Given the description of an element on the screen output the (x, y) to click on. 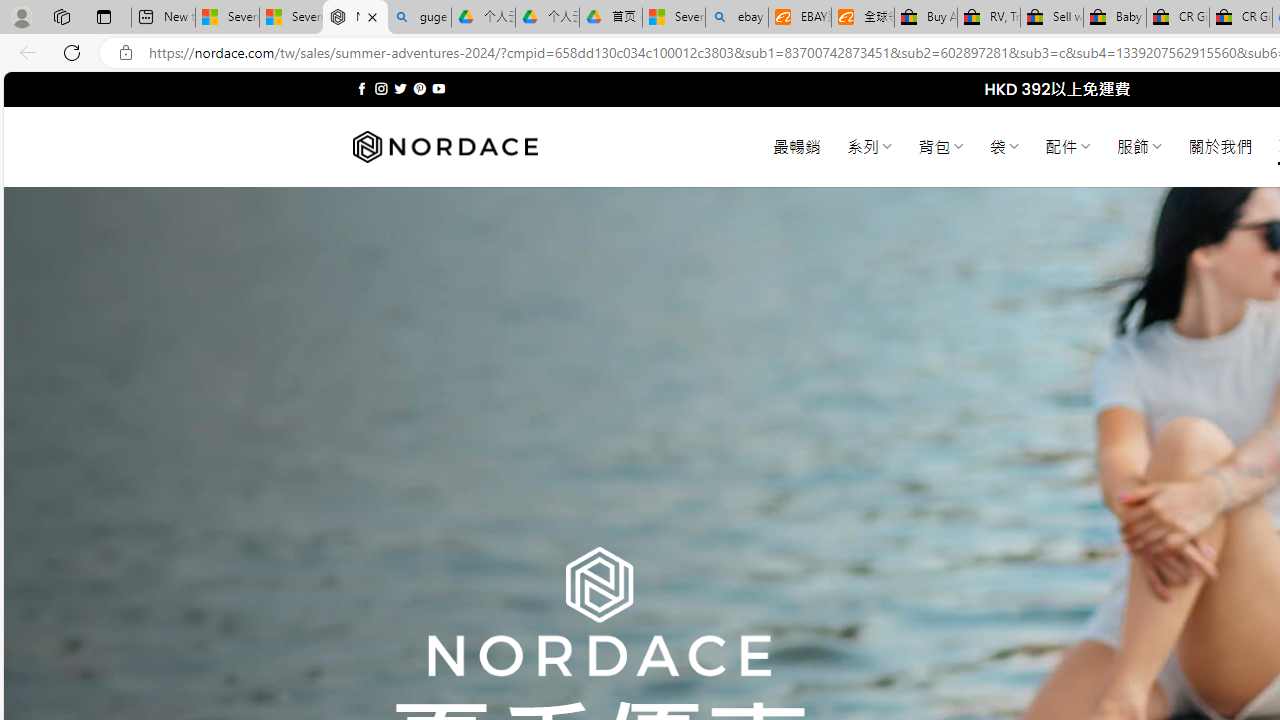
guge yunpan - Search (418, 17)
Follow on Instagram (381, 88)
